Given the description of an element on the screen output the (x, y) to click on. 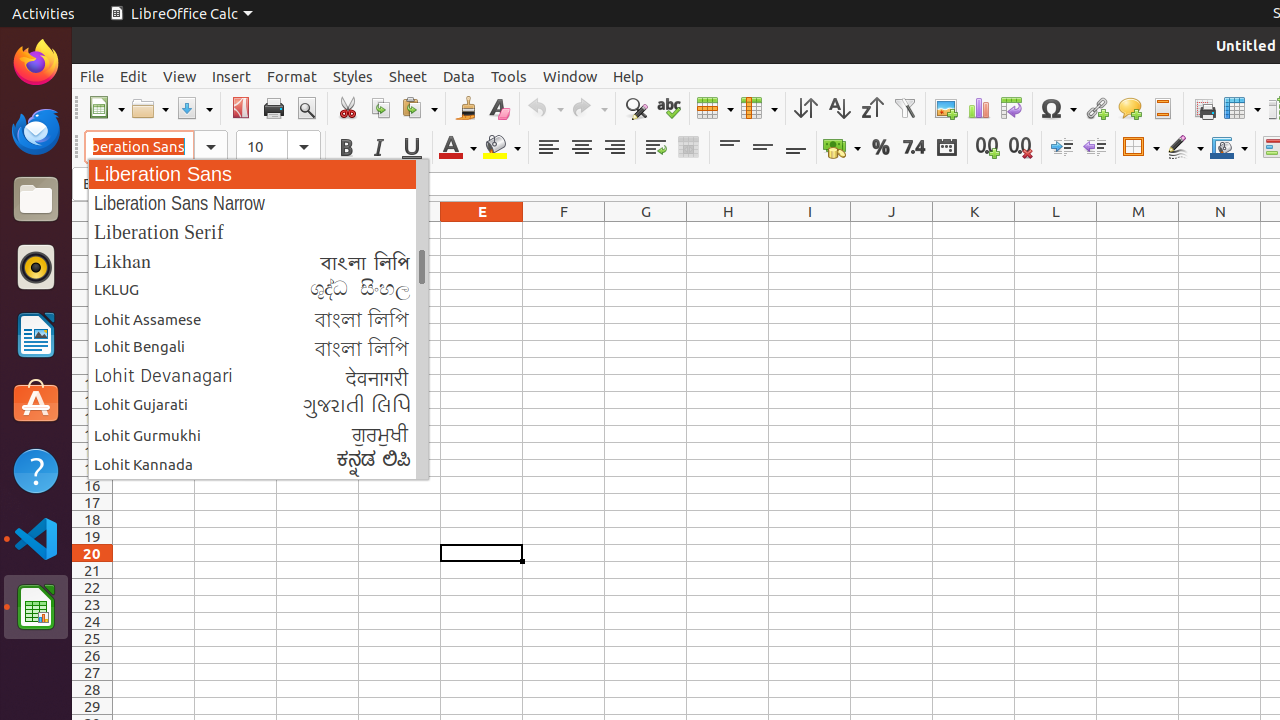
New Element type: push-button (106, 108)
L1 Element type: table-cell (1056, 230)
Wrap Text Element type: push-button (655, 147)
Align Right Element type: push-button (614, 147)
Date Element type: push-button (946, 147)
